Given the description of an element on the screen output the (x, y) to click on. 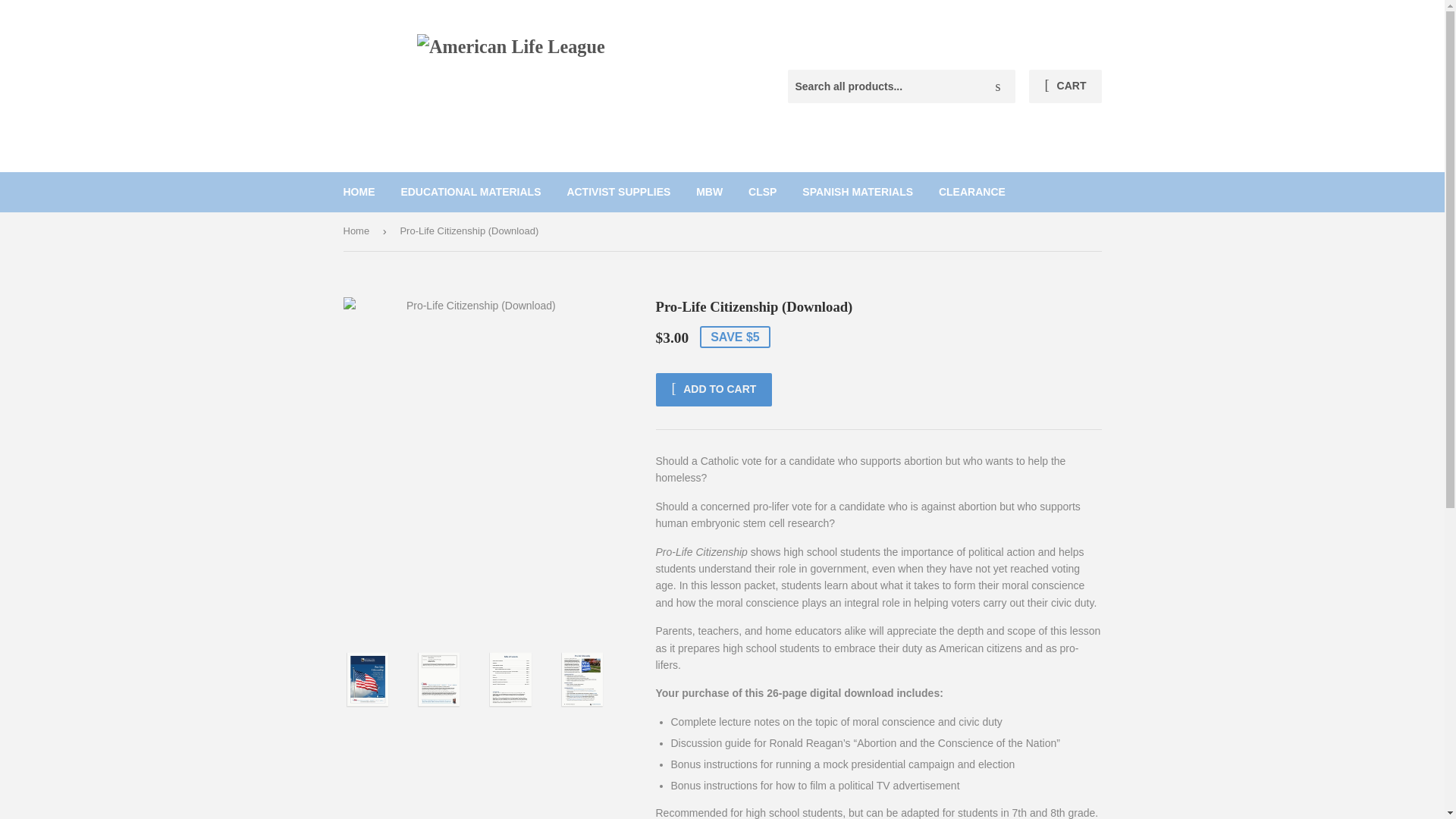
CART (1064, 86)
SPANISH MATERIALS (857, 191)
CLSP (761, 191)
MBW (708, 191)
EDUCATIONAL MATERIALS (469, 191)
CLEARANCE (971, 191)
Search (997, 87)
HOME (359, 191)
ADD TO CART (713, 389)
ACTIVIST SUPPLIES (617, 191)
